Given the description of an element on the screen output the (x, y) to click on. 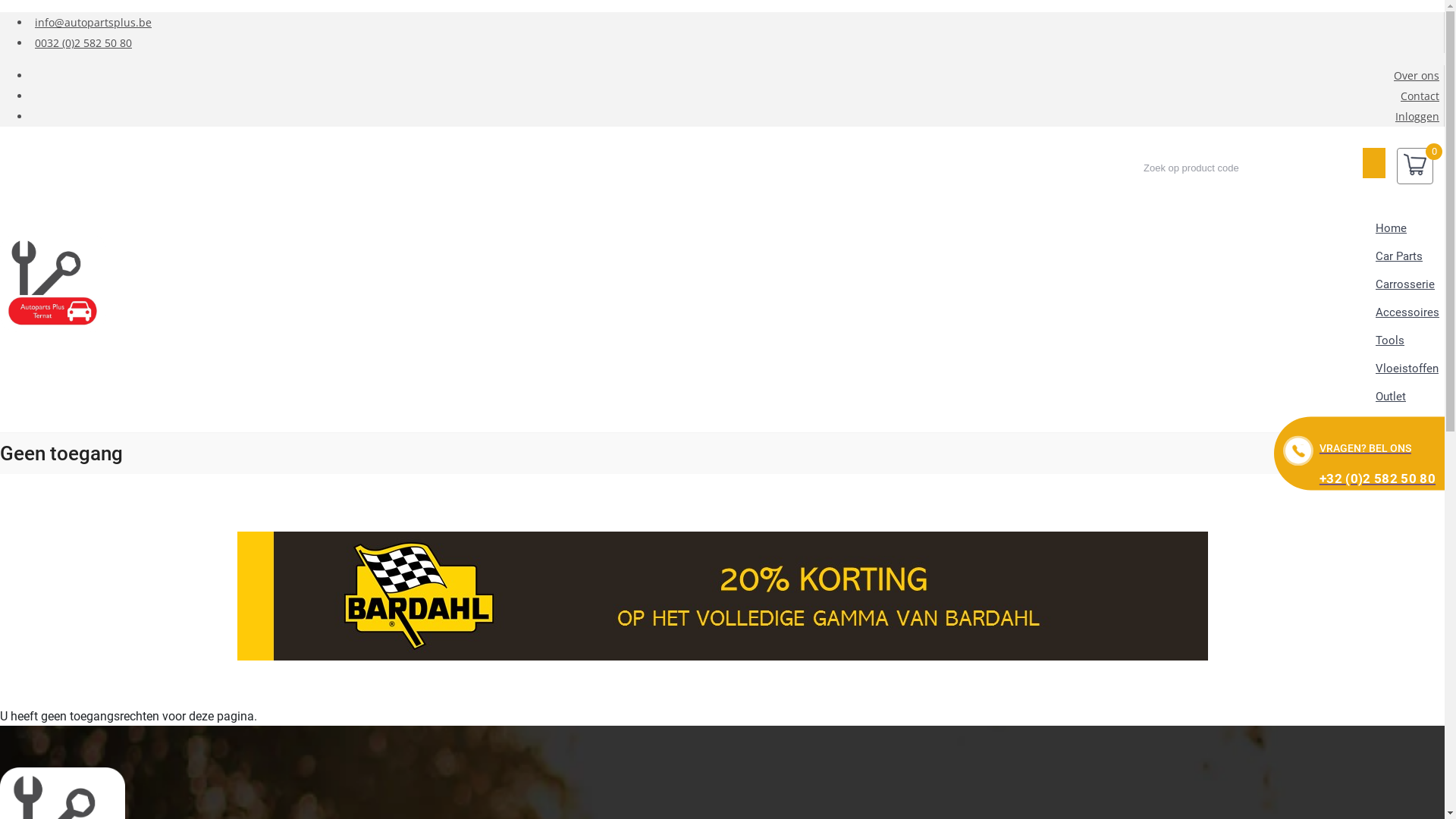
Overslaan en naar de inhoud gaan Element type: text (0, 12)
Accessoires Element type: text (1407, 312)
0 Element type: text (1414, 165)
Search Element type: text (1373, 162)
Home Element type: hover (53, 285)
Tools Element type: text (1389, 340)
Inloggen Element type: text (1417, 116)
Carrosserie Element type: text (1404, 284)
Contact Element type: text (1419, 95)
Outlet Element type: text (1390, 396)
VRAGEN? BEL ONS
+32 (0)2 582 50 80 Element type: text (1359, 452)
Vloeistoffen Element type: text (1406, 368)
Car Parts Element type: text (1398, 256)
0032 (0)2 582 50 80 Element type: text (82, 42)
info@autopartsplus.be Element type: text (92, 22)
Home Element type: text (1390, 228)
Over ons Element type: text (1416, 75)
